Given the description of an element on the screen output the (x, y) to click on. 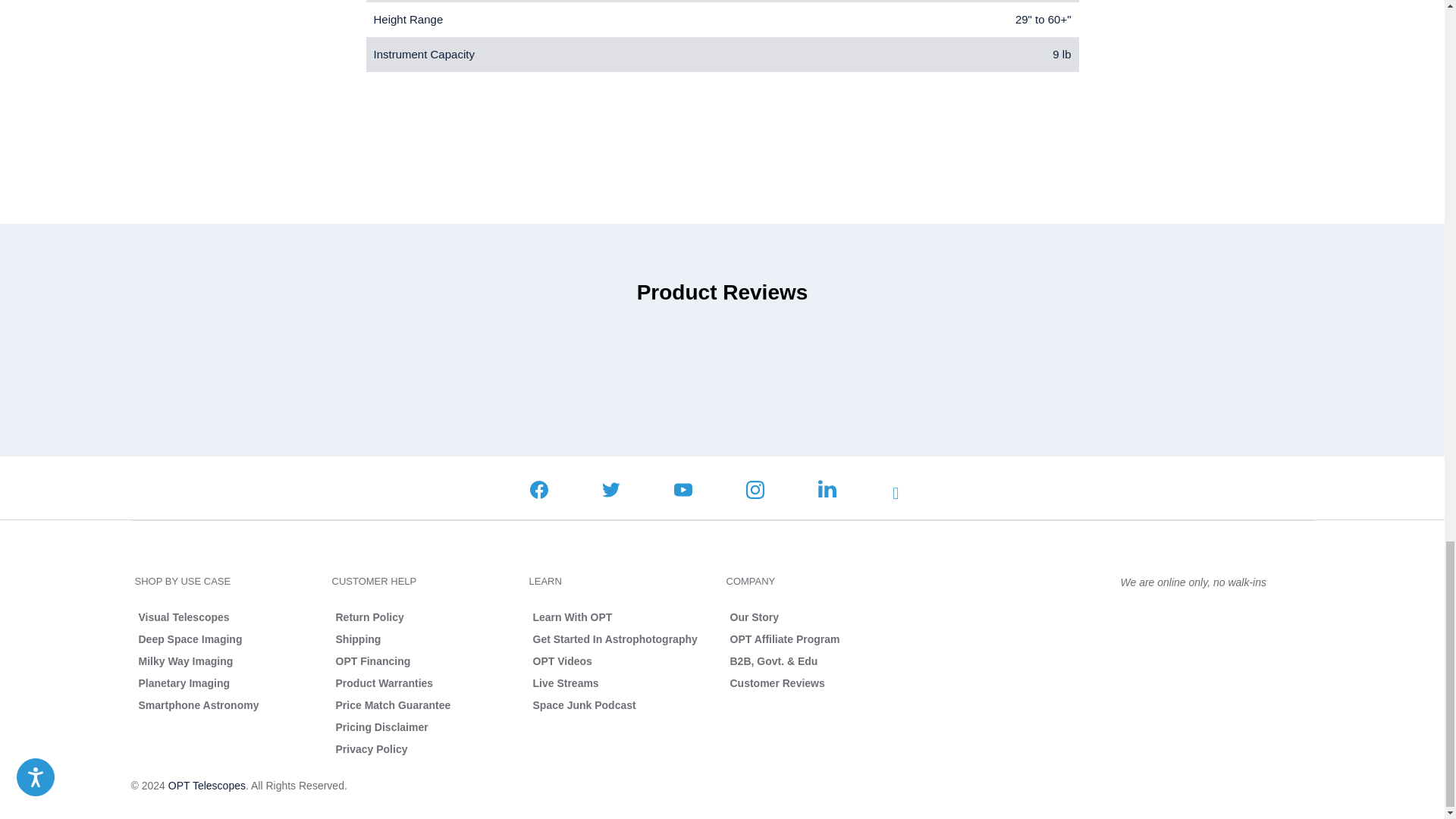
OPT Telescopes on YouTube (683, 491)
OPT Telescopes on Twitter (611, 491)
OPT Telescopes on LinkedIn (826, 490)
OPT Telescopes on Facebook (538, 491)
OPT Telescopes on Pinterest (900, 493)
OPT Telescopes on Instagram (754, 491)
